Given the description of an element on the screen output the (x, y) to click on. 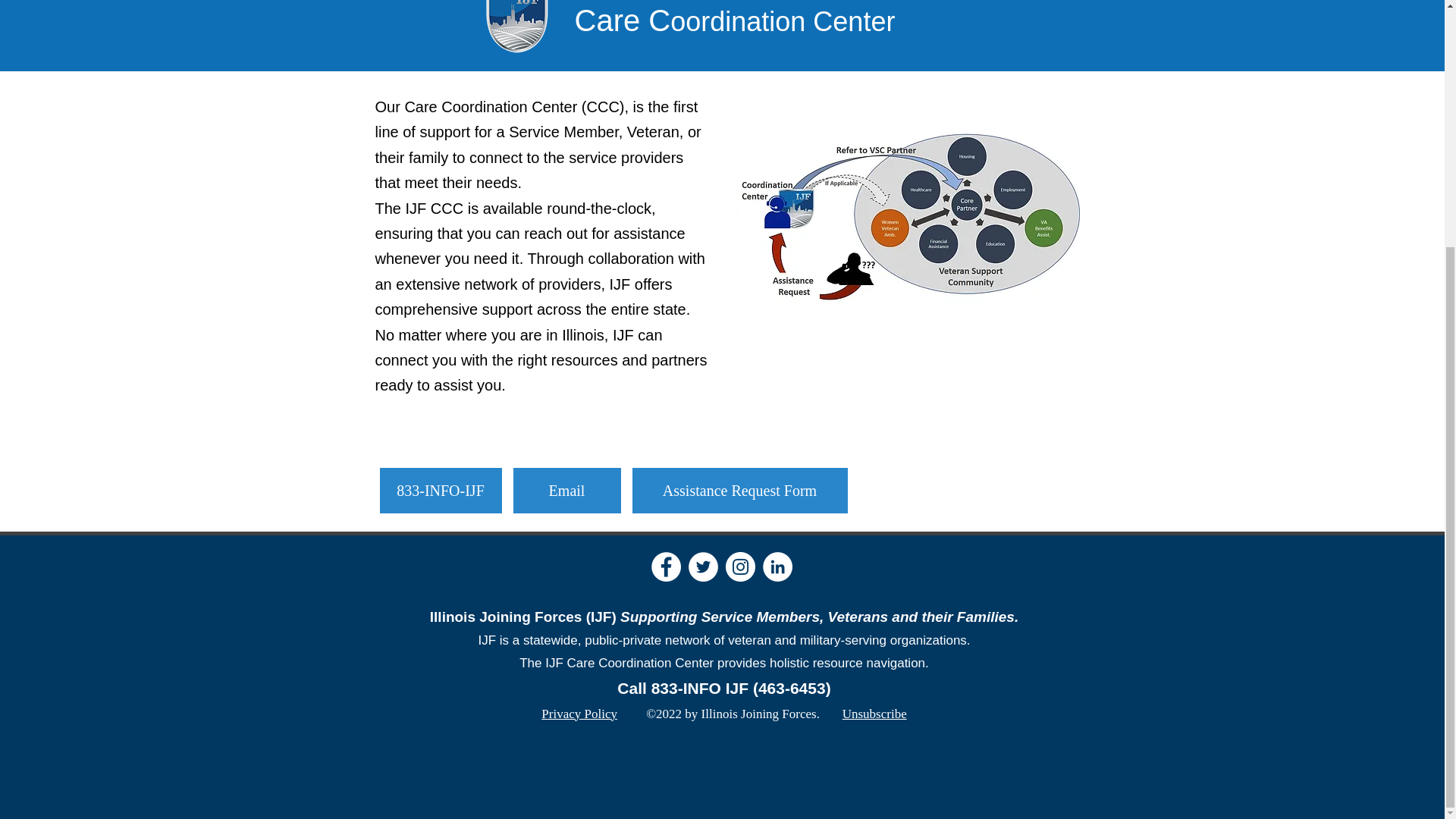
Unsubscribe (875, 713)
833-INFO-IJF (439, 490)
Privacy Policy (579, 713)
Email (566, 490)
Assistance Request Form (739, 490)
